Given the description of an element on the screen output the (x, y) to click on. 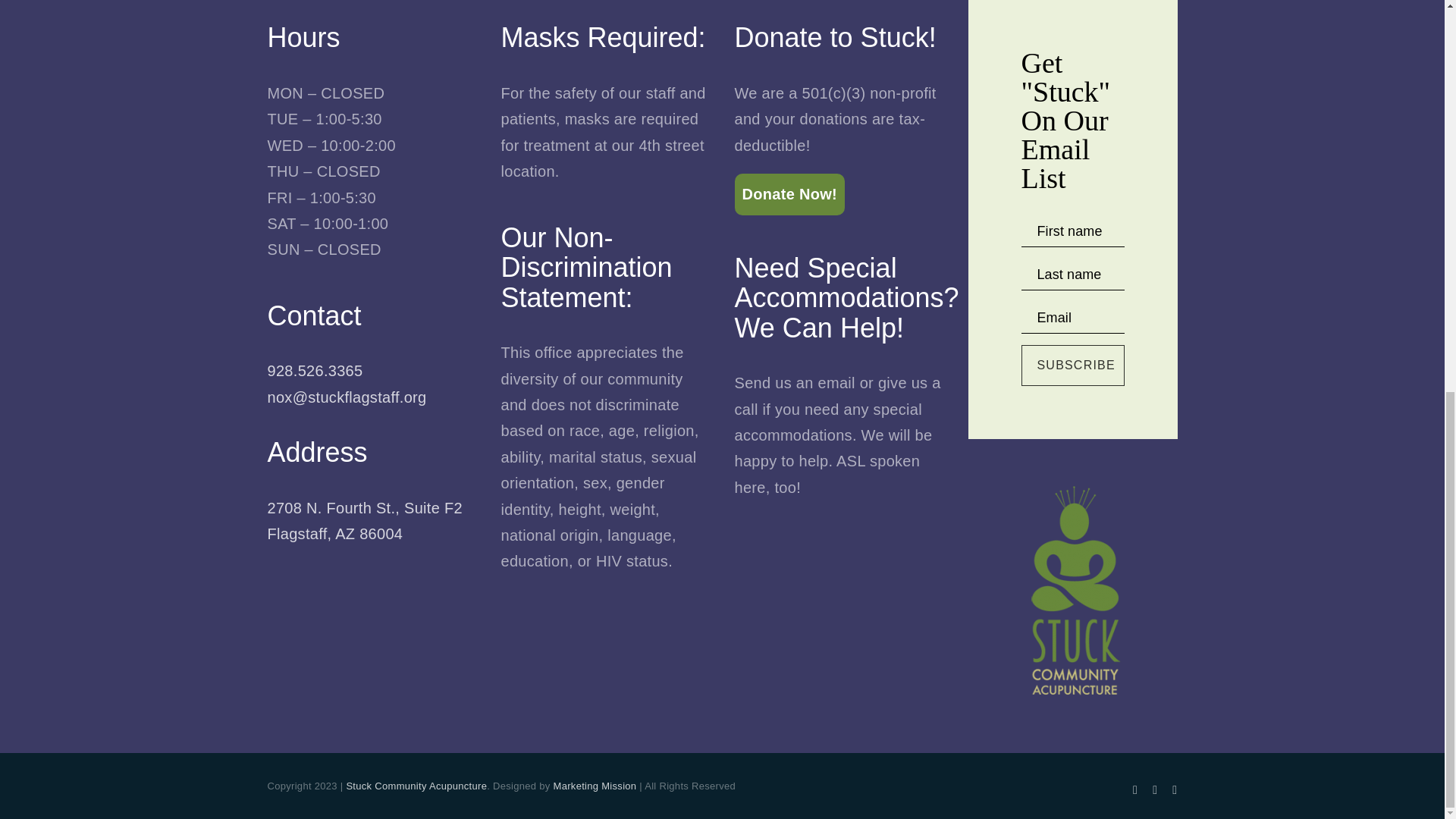
Donate Now! (788, 193)
SUBSCRIBE (363, 520)
928.526.3365 (1072, 364)
